Given the description of an element on the screen output the (x, y) to click on. 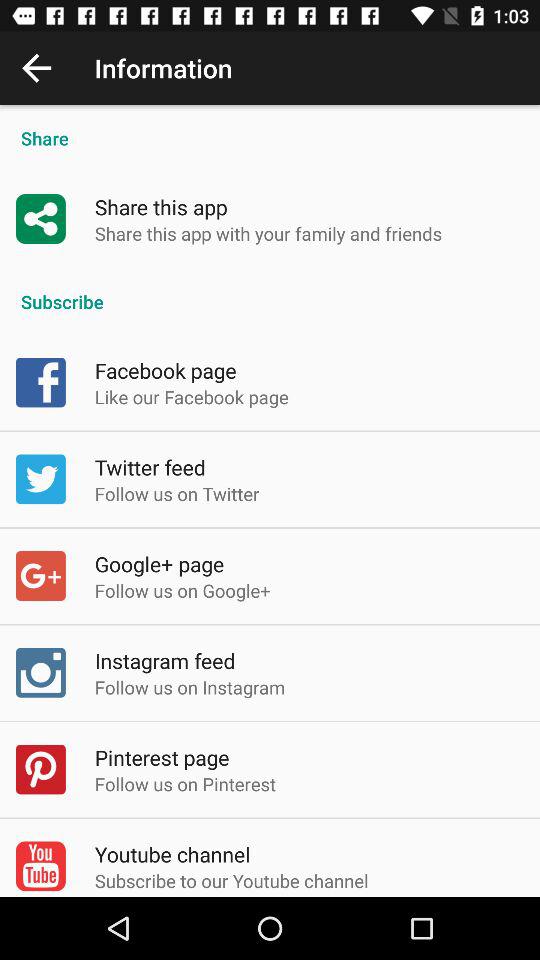
choose item above the share item (36, 68)
